Given the description of an element on the screen output the (x, y) to click on. 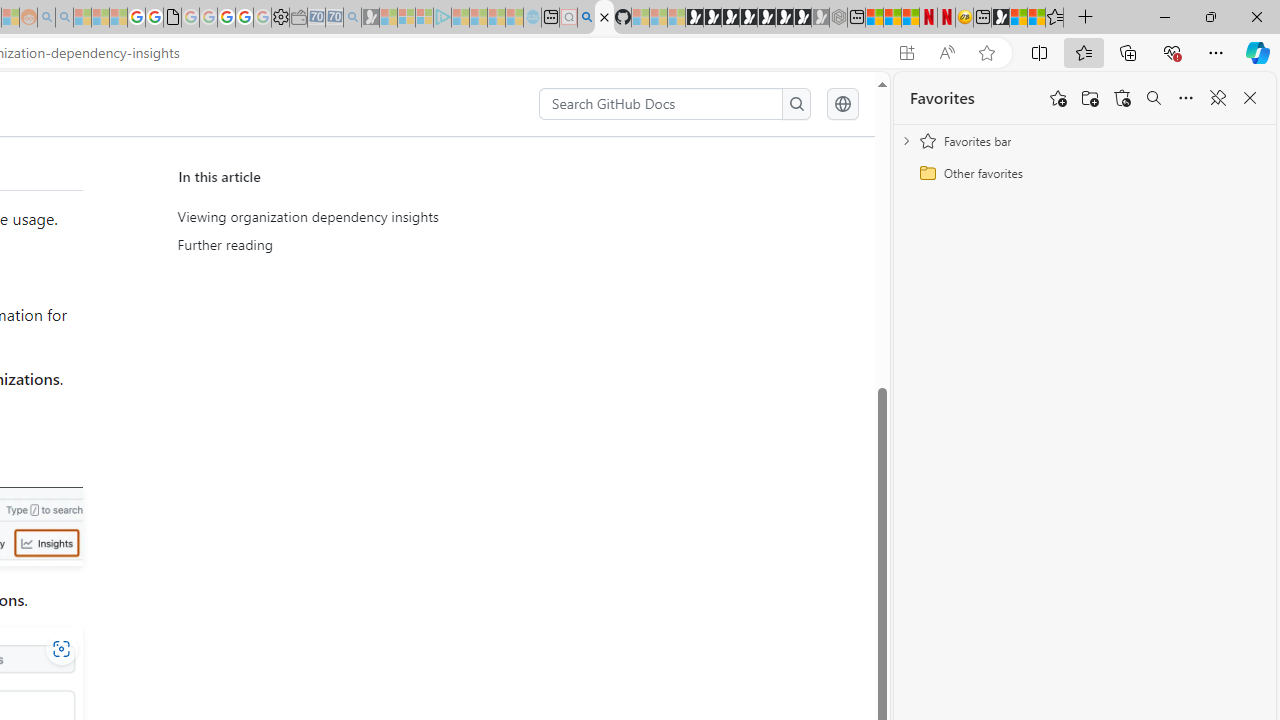
Wildlife - MSN (1017, 17)
Viewing organization dependency insights (362, 217)
